Given the description of an element on the screen output the (x, y) to click on. 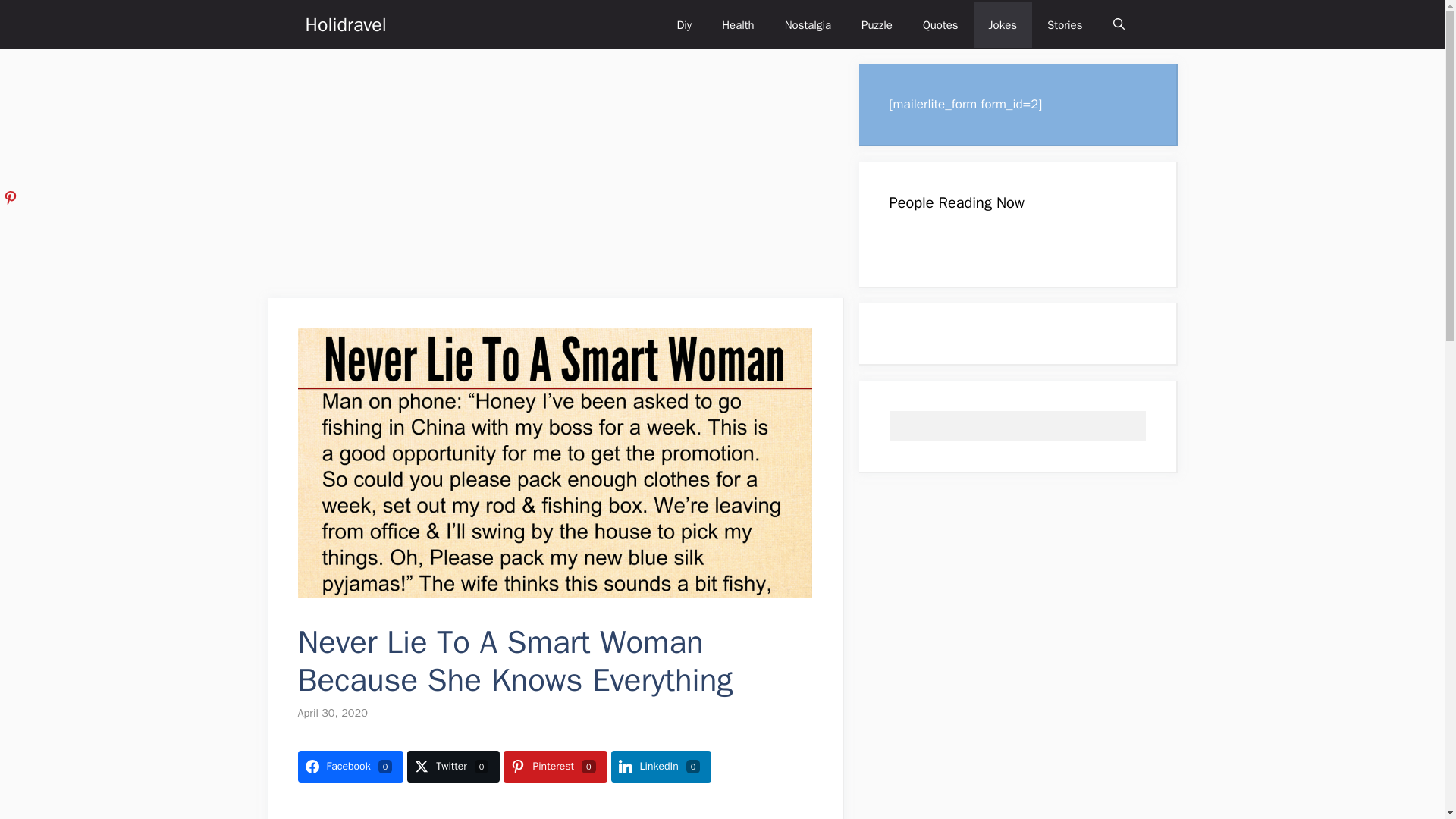
Nostalgia (807, 23)
Puzzle (876, 23)
Holidravel (344, 24)
Health (738, 23)
Share on Pinterest (555, 766)
Twitter0 (453, 766)
Share on Twitter (453, 766)
Jokes (1003, 23)
Pinterest0 (555, 766)
Share on LinkedIn (661, 766)
LinkedIn0 (661, 766)
Share on Facebook (350, 766)
Stories (1064, 23)
Diy (683, 23)
Quotes (940, 23)
